Given the description of an element on the screen output the (x, y) to click on. 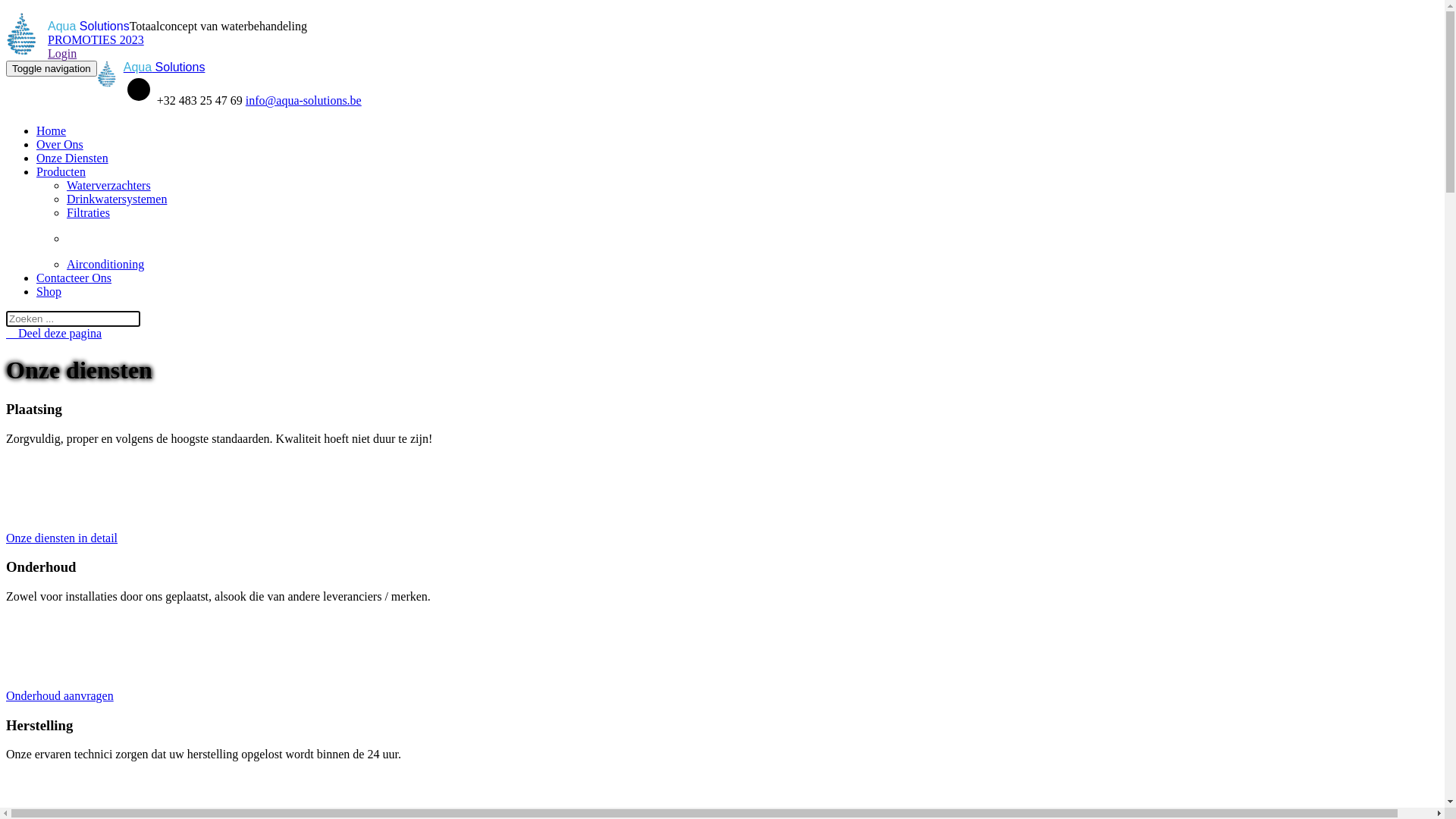
PROMOTIES 2023 Element type: text (95, 39)
Login Element type: text (61, 53)
Airconditioning Element type: text (105, 263)
Onze diensten in detail Element type: text (61, 537)
Toggle navigation Element type: text (51, 68)
Drinkwatersystemen Element type: text (116, 198)
Contacteer Ons Element type: text (73, 277)
Over Ons Element type: text (59, 144)
Aqua Solutions Element type: text (164, 66)
Waterverzachters Element type: text (108, 184)
Producten Element type: text (60, 171)
Filtraties Element type: text (87, 212)
Shop Element type: text (48, 291)
Onderhoud aanvragen Element type: text (59, 695)
Onze Diensten Element type: text (72, 157)
    Deel deze pagina Element type: text (53, 332)
info@aqua-solutions.be Element type: text (303, 100)
Home Element type: text (50, 130)
